Given the description of an element on the screen output the (x, y) to click on. 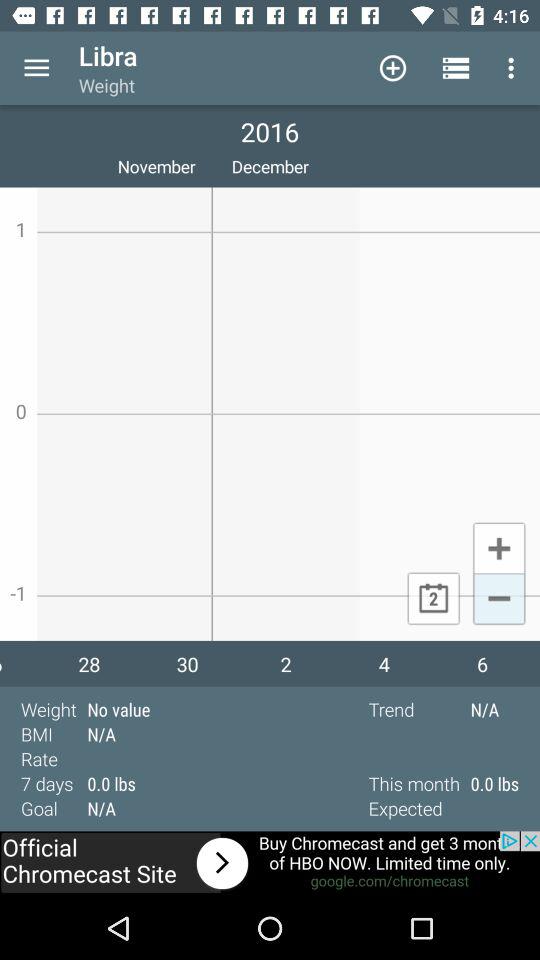
click for menu (36, 68)
